Given the description of an element on the screen output the (x, y) to click on. 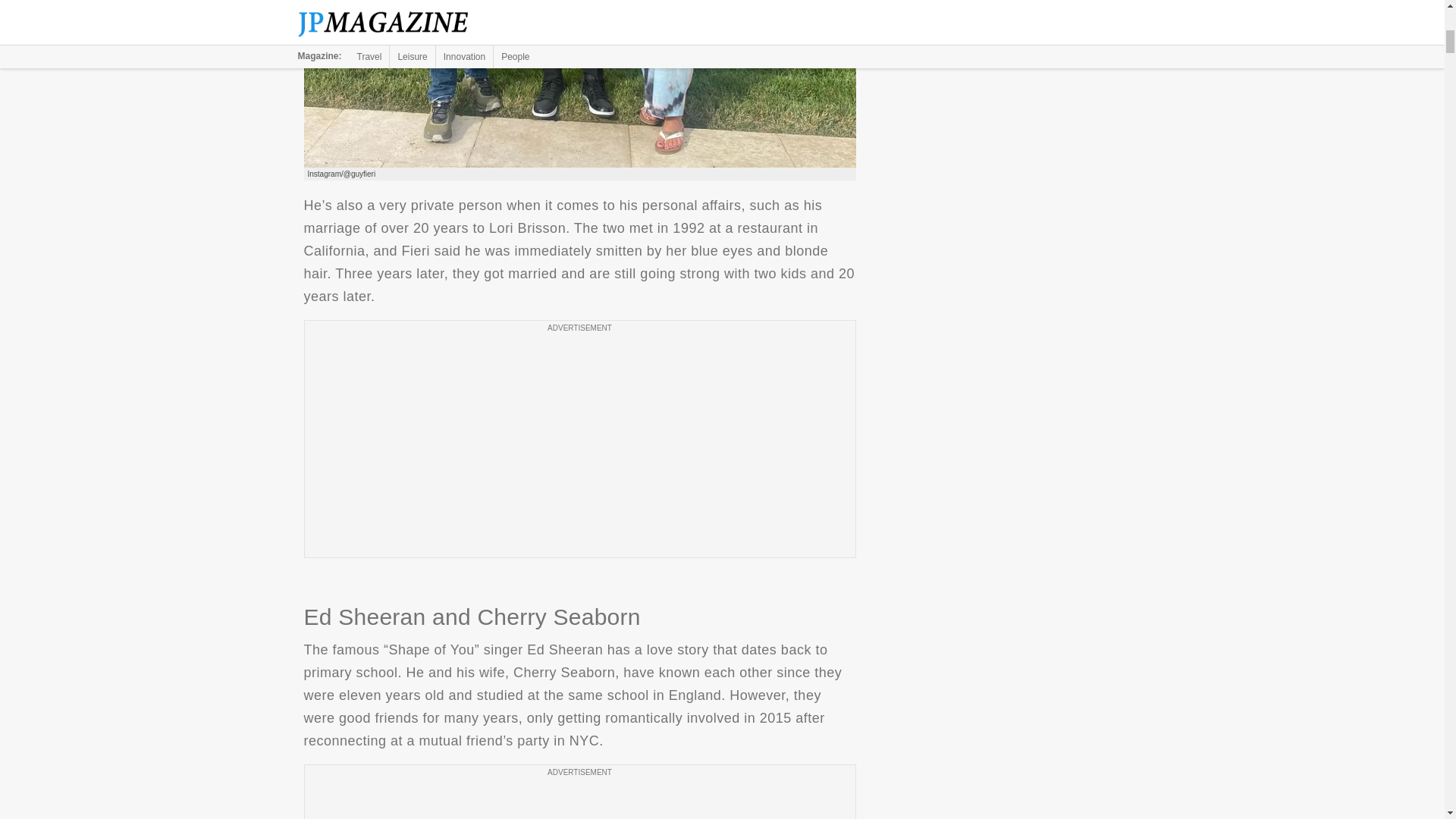
Guy Fieri and Lori Brisson (579, 83)
